Given the description of an element on the screen output the (x, y) to click on. 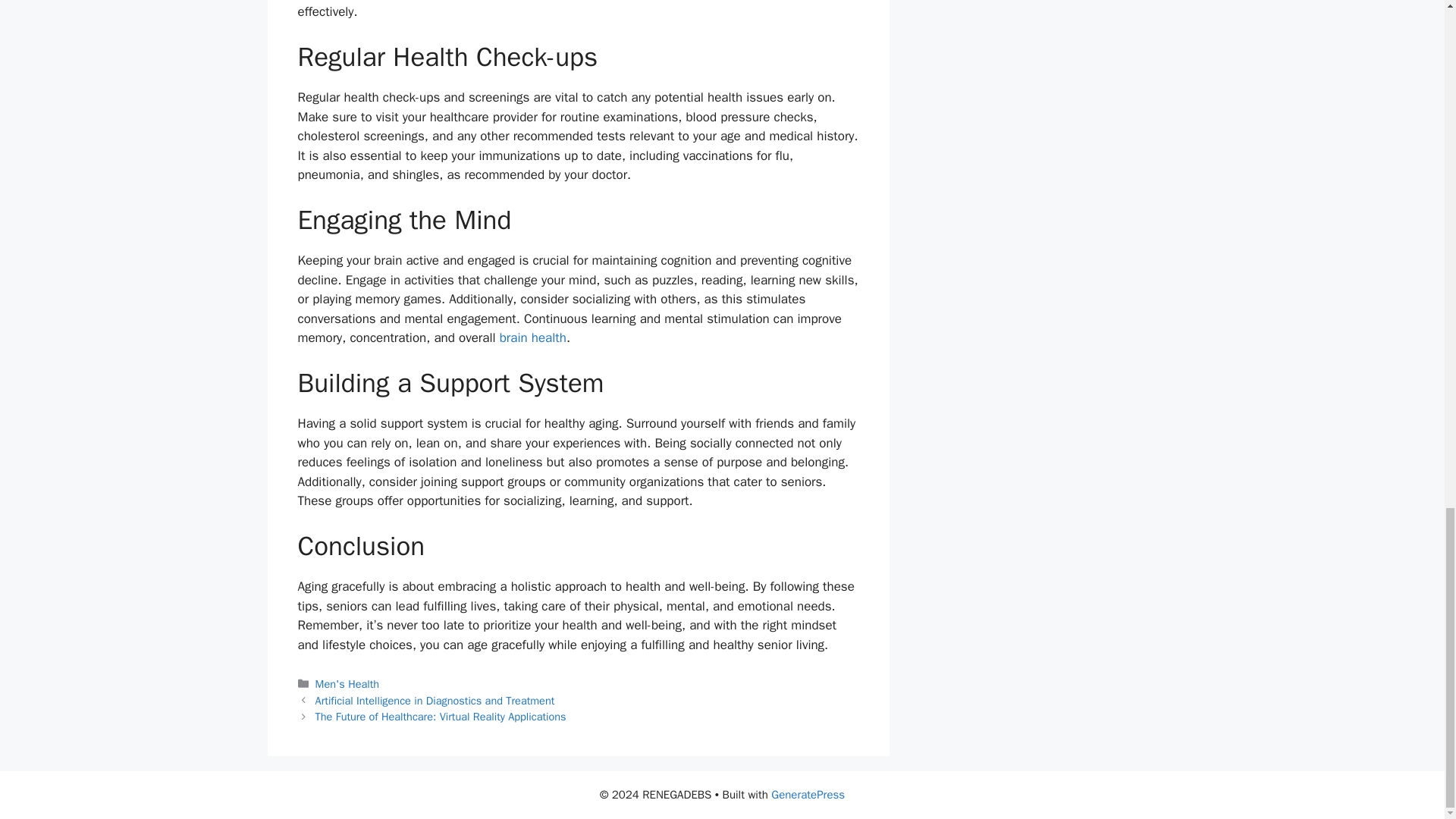
brain health (532, 337)
GeneratePress (807, 794)
Artificial Intelligence in Diagnostics and Treatment (434, 700)
The Future of Healthcare: Virtual Reality Applications (440, 716)
Men's Health (346, 684)
